Given the description of an element on the screen output the (x, y) to click on. 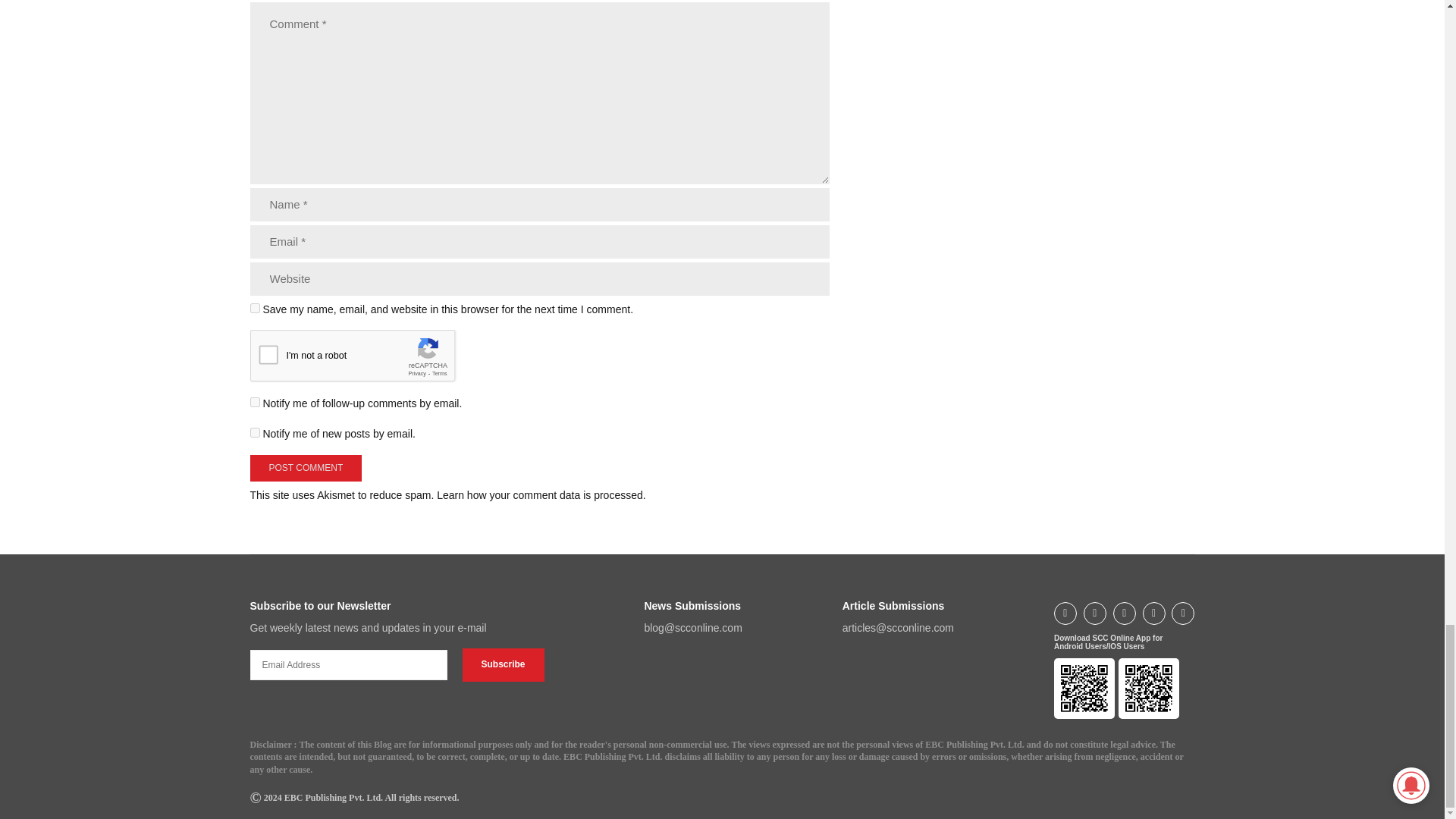
yes (255, 307)
Post Comment (306, 468)
Subscribe (503, 664)
subscribe (255, 432)
subscribe (255, 402)
